Given the description of an element on the screen output the (x, y) to click on. 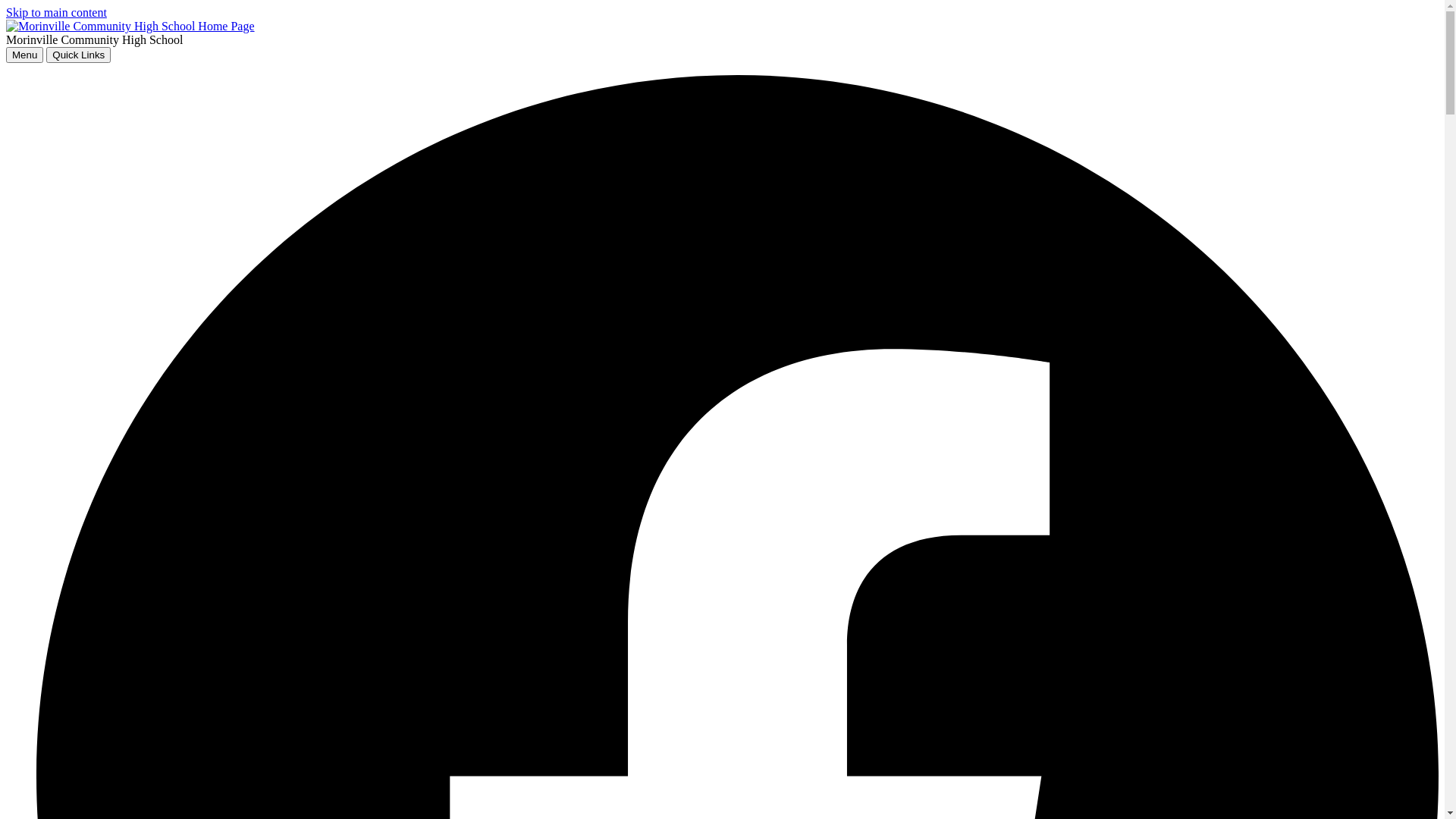
Menu Element type: text (24, 54)
home Element type: hover (130, 25)
Skip to main content Element type: text (56, 12)
Quick Links Element type: text (78, 54)
